Given the description of an element on the screen output the (x, y) to click on. 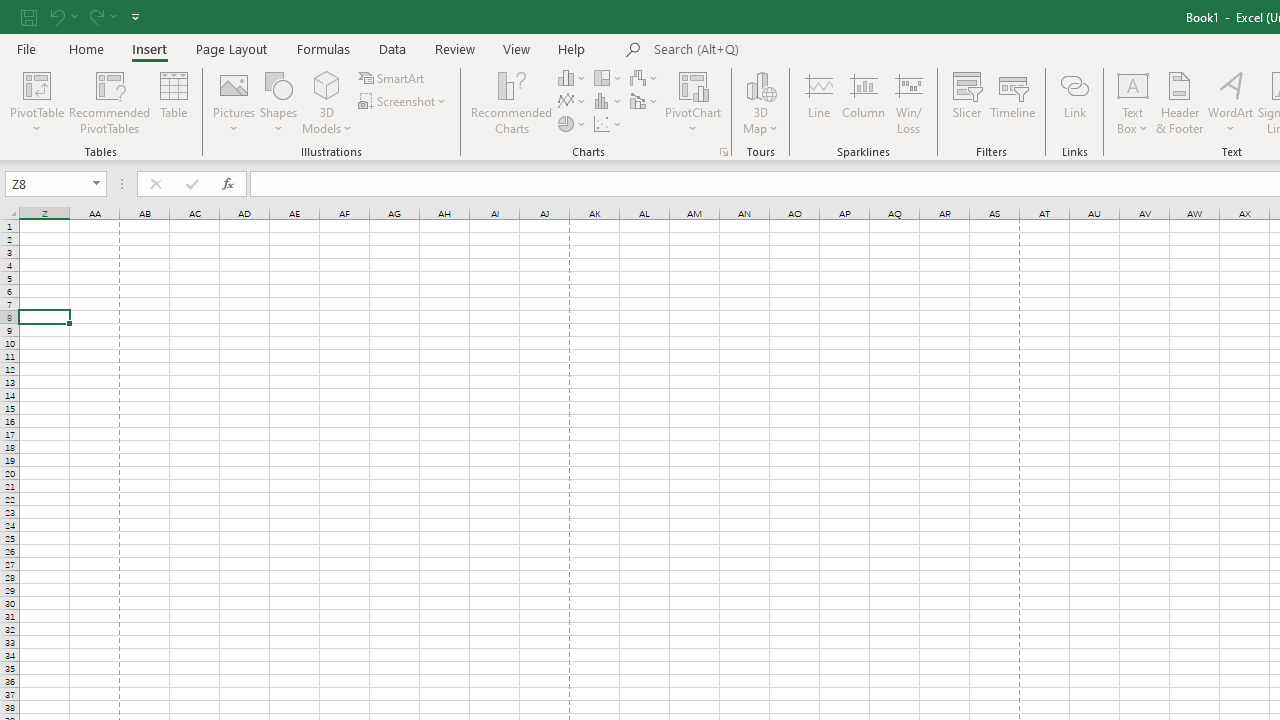
Shapes (278, 102)
Pictures (234, 102)
SmartArt... (392, 78)
Insert Hierarchy Chart (609, 78)
Insert Column or Bar Chart (573, 78)
Column (863, 102)
Recommended PivotTables (109, 102)
Text Box (1133, 102)
Insert Line or Area Chart (573, 101)
